Given the description of an element on the screen output the (x, y) to click on. 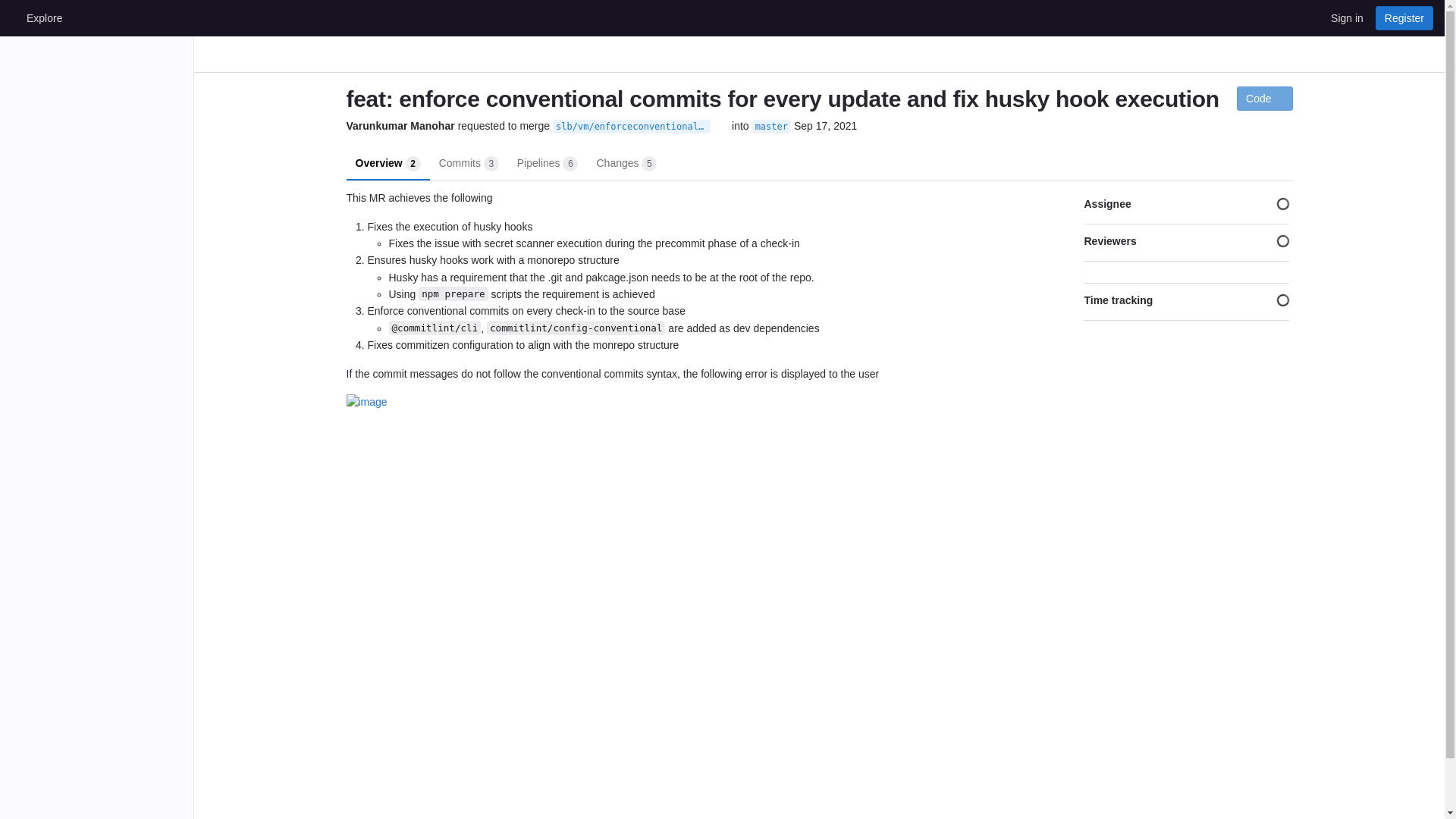
Register (1403, 17)
Explore (44, 17)
master (771, 126)
master (468, 162)
Sign in (771, 126)
Sep 17, 2021 4:21am (625, 162)
Varunkumar Manohar (387, 162)
